Given the description of an element on the screen output the (x, y) to click on. 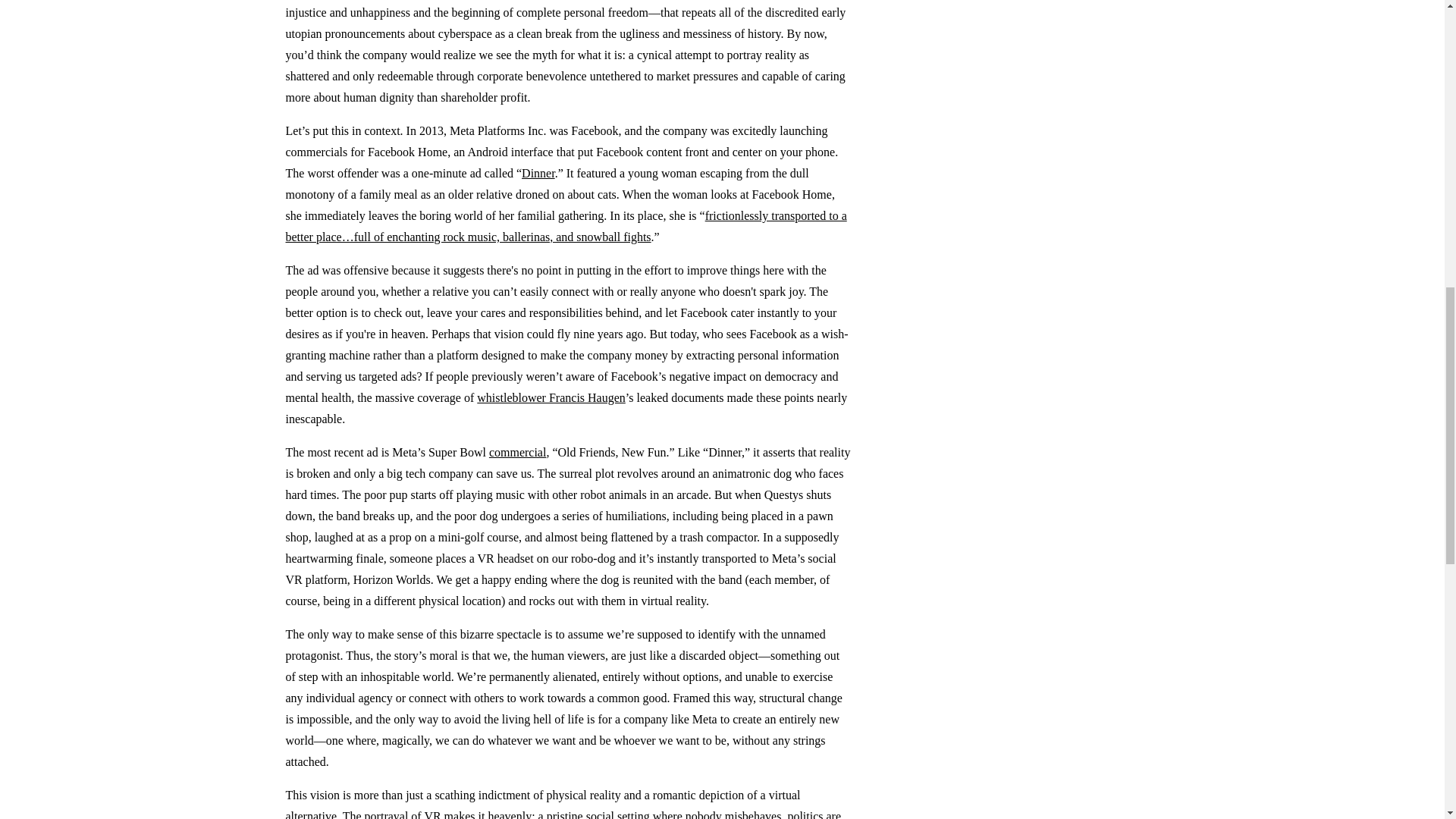
Dinner (537, 173)
whistleblower Francis Haugen (551, 397)
commercial (518, 451)
